Given the description of an element on the screen output the (x, y) to click on. 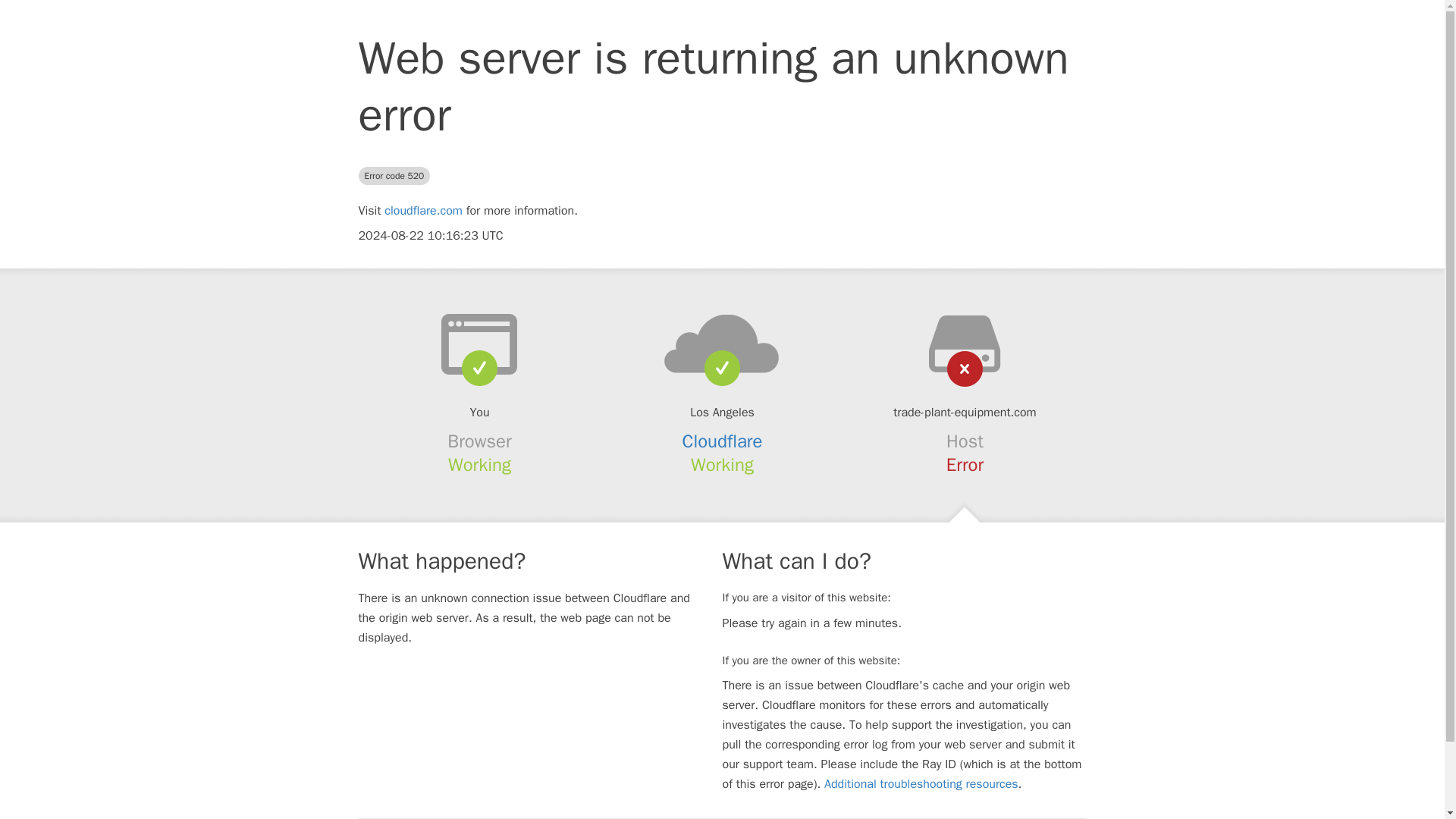
cloudflare.com (423, 210)
Additional troubleshooting resources (920, 783)
Cloudflare (722, 440)
